Given the description of an element on the screen output the (x, y) to click on. 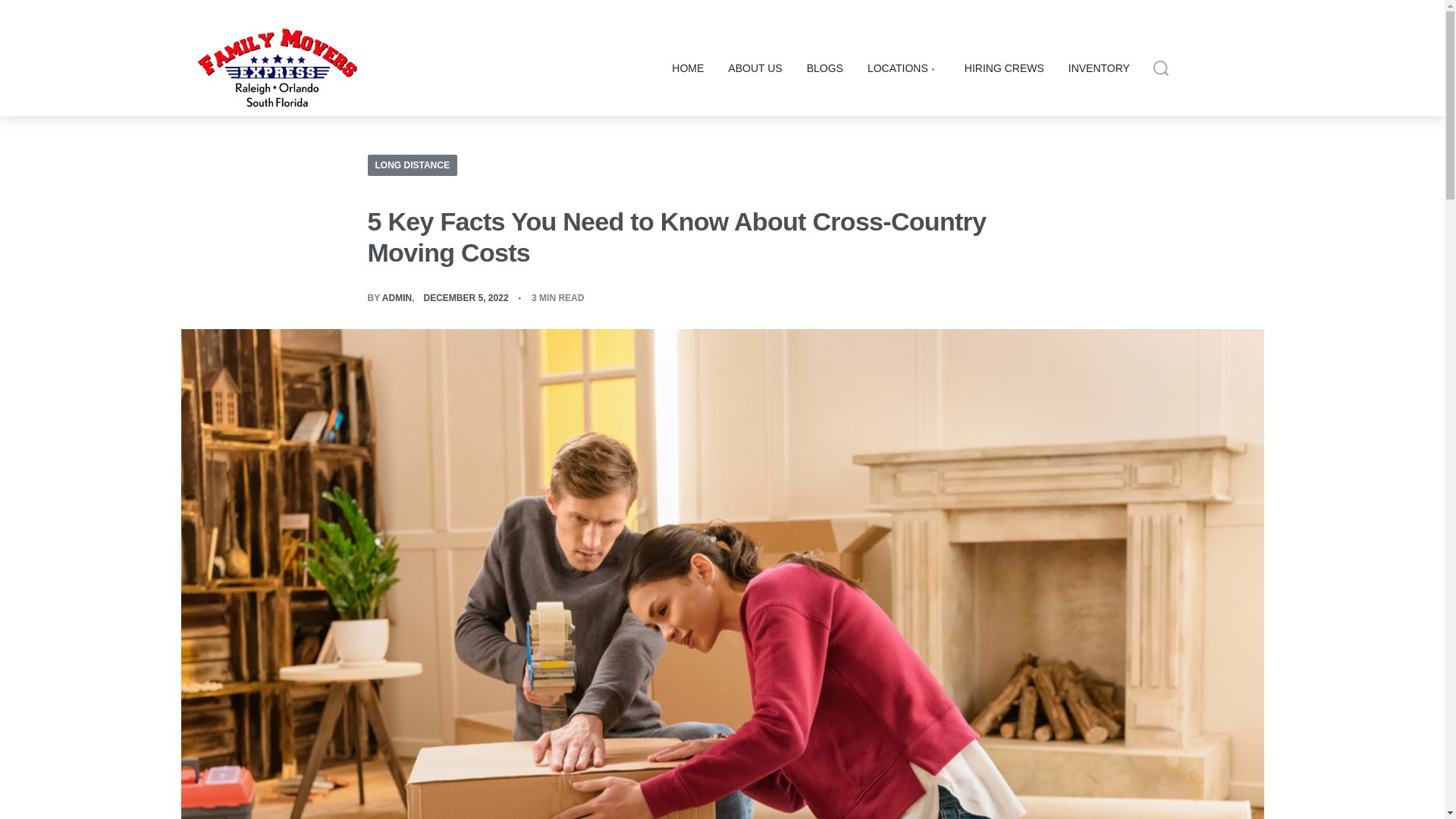
BLOGS (824, 68)
Posts by admin (396, 297)
HOME (687, 68)
INVENTORY (1098, 68)
HIRING CREWS (1003, 68)
LOCATIONS (903, 68)
LONG DISTANCE (411, 165)
DECEMBER 5, 2022 (465, 297)
ADMIN (396, 297)
ABOUT US (754, 68)
